Given the description of an element on the screen output the (x, y) to click on. 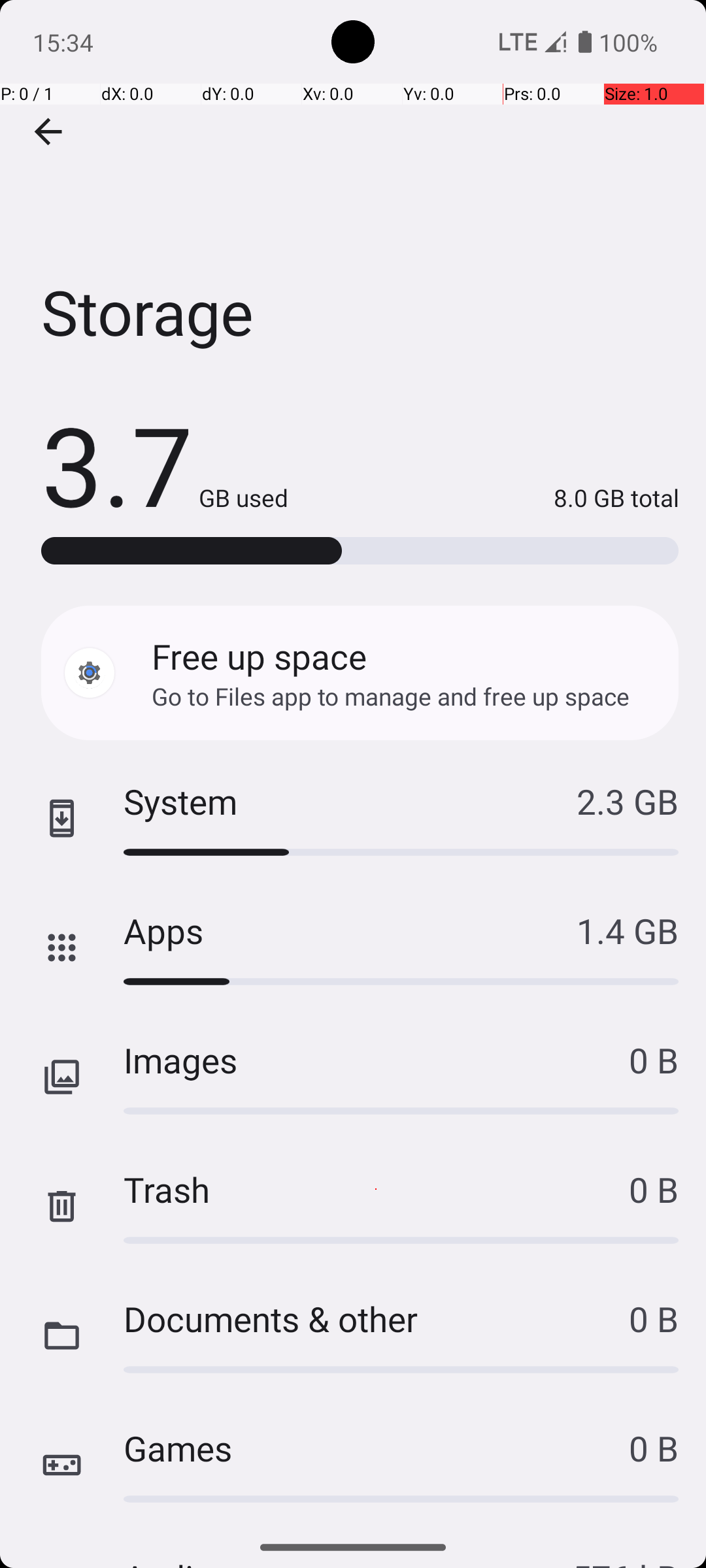
3.7 GB used Element type: android.widget.TextView (164, 463)
2.3 GB Element type: android.widget.TextView (627, 801)
1.4 GB Element type: android.widget.TextView (627, 930)
